Given the description of an element on the screen output the (x, y) to click on. 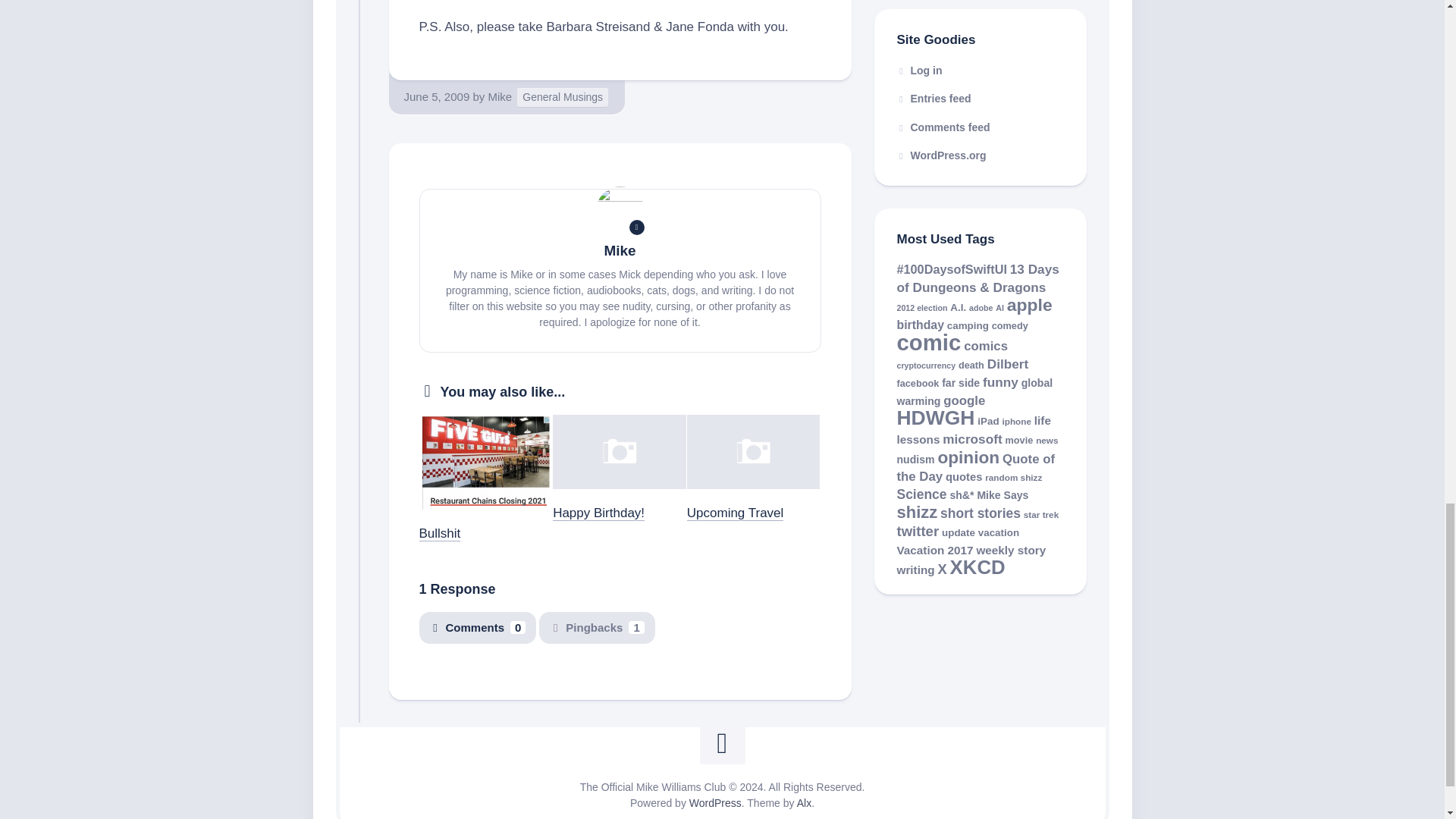
Bullshit (439, 533)
WordPress.org (940, 155)
Pingbacks1 (595, 627)
Comments feed (943, 127)
Upcoming Travel (735, 513)
Log in (919, 70)
Happy Birthday! (599, 513)
Comments0 (477, 627)
Posts by Mike (499, 96)
Entries feed (933, 98)
General Musings (562, 97)
Mike (499, 96)
